Given the description of an element on the screen output the (x, y) to click on. 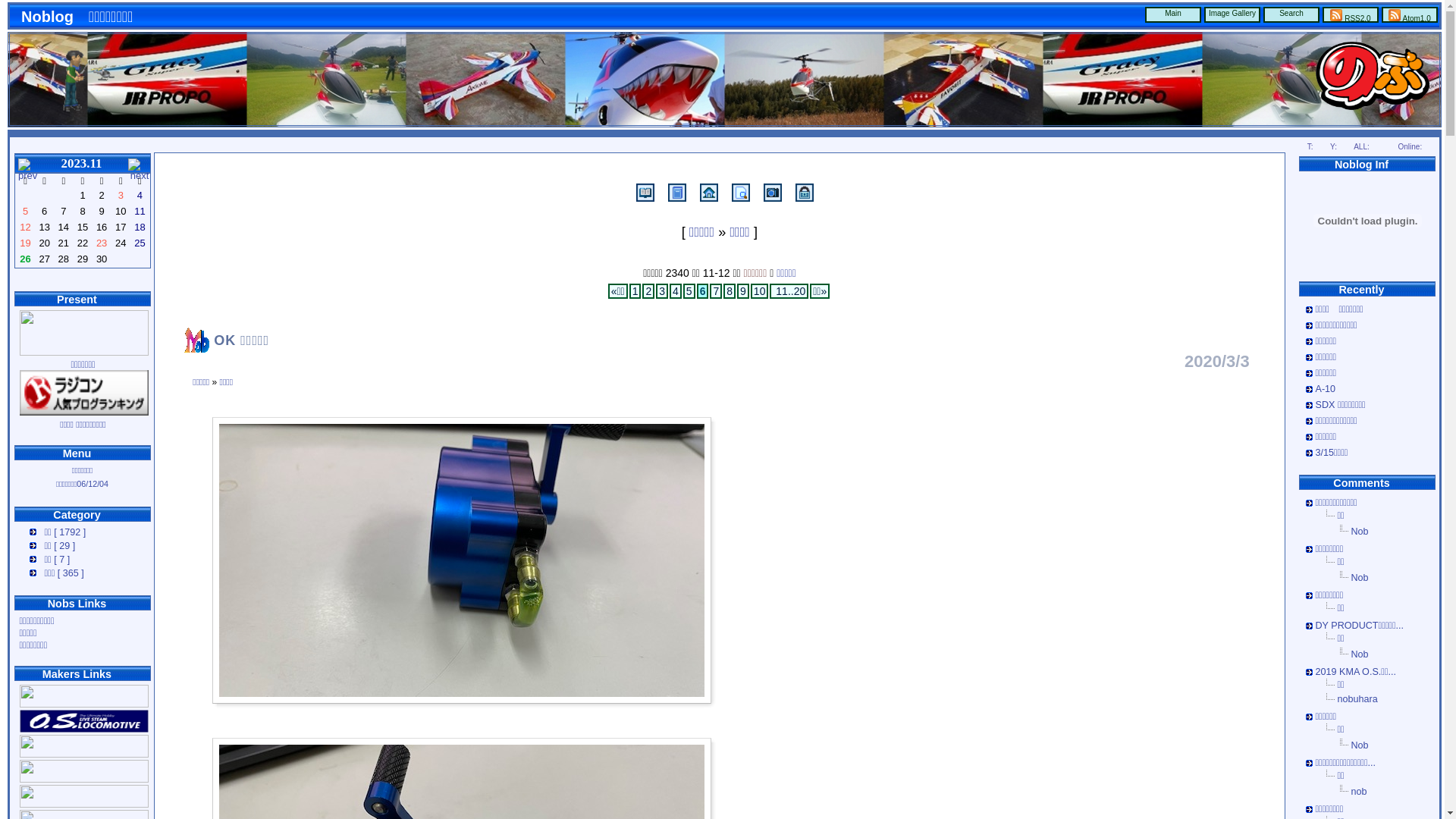
Nob Element type: text (1359, 531)
Nob Element type: text (1359, 745)
Main Element type: text (1173, 14)
9 Element type: text (743, 290)
QUEST Element type: hover (83, 754)
nobuhara Element type: text (1357, 698)
8 Element type: text (729, 290)
1 Element type: text (635, 290)
Nob Element type: text (1359, 654)
nob Element type: text (1359, 791)
7 Element type: text (715, 290)
A-10 Element type: text (1324, 388)
4 Element type: text (675, 290)
RSS2.0 Element type: text (1350, 14)
3 Element type: text (661, 290)
Search Element type: text (1291, 14)
Nob Element type: text (1359, 577)
11..20 Element type: text (788, 290)
5 Element type: text (689, 290)
Image Gallery Element type: text (1232, 14)
Atom1.0 Element type: text (1409, 14)
10 Element type: text (759, 290)
2 Element type: text (648, 290)
